Given the description of an element on the screen output the (x, y) to click on. 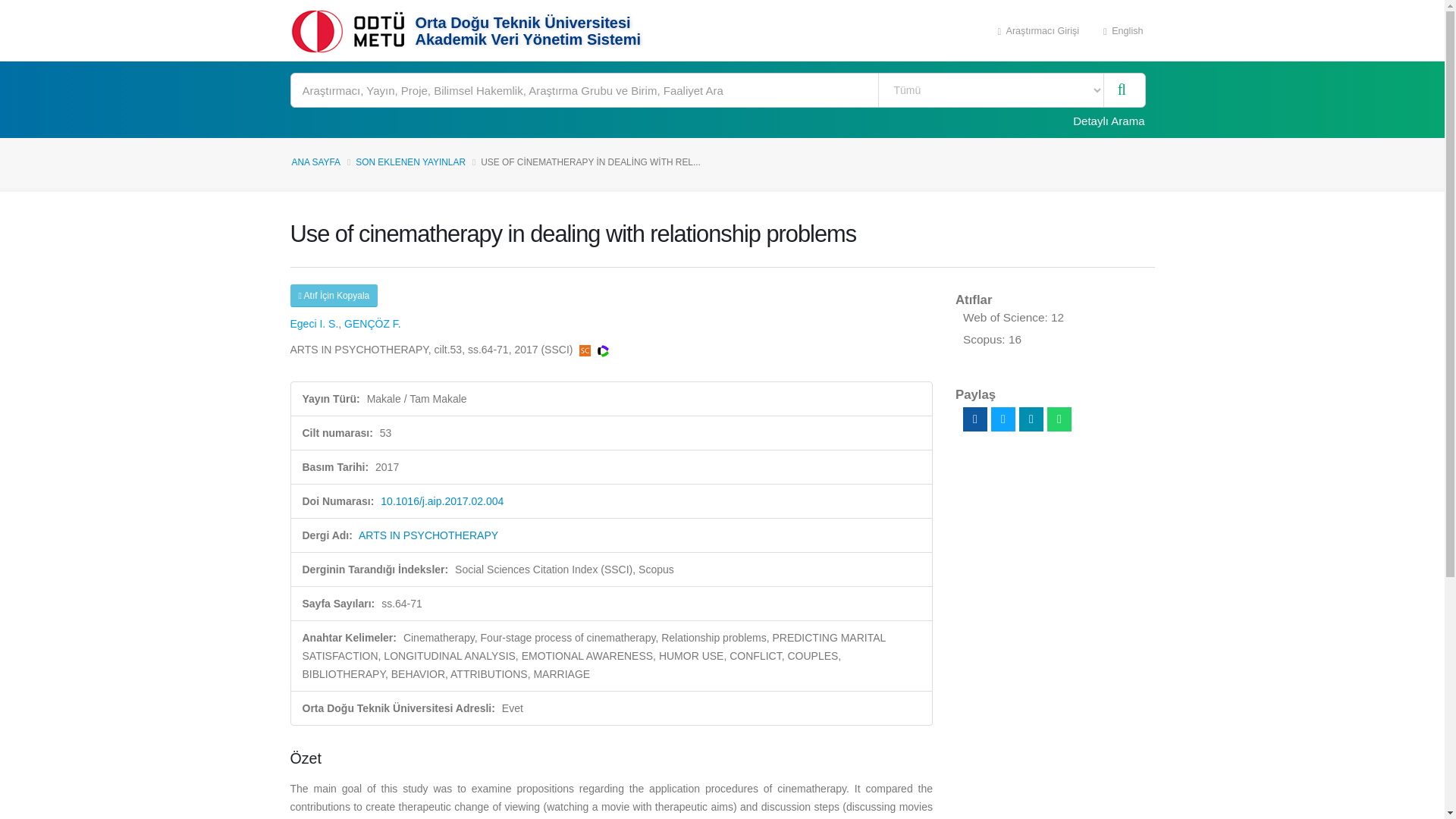
ANA SAYFA (315, 162)
I. Sine Egeci (313, 323)
SON EKLENEN YAYINLAR (410, 162)
English (1123, 31)
ARTS IN PSYCHOTHERAPY (427, 535)
Egeci I. S. (313, 323)
